Given the description of an element on the screen output the (x, y) to click on. 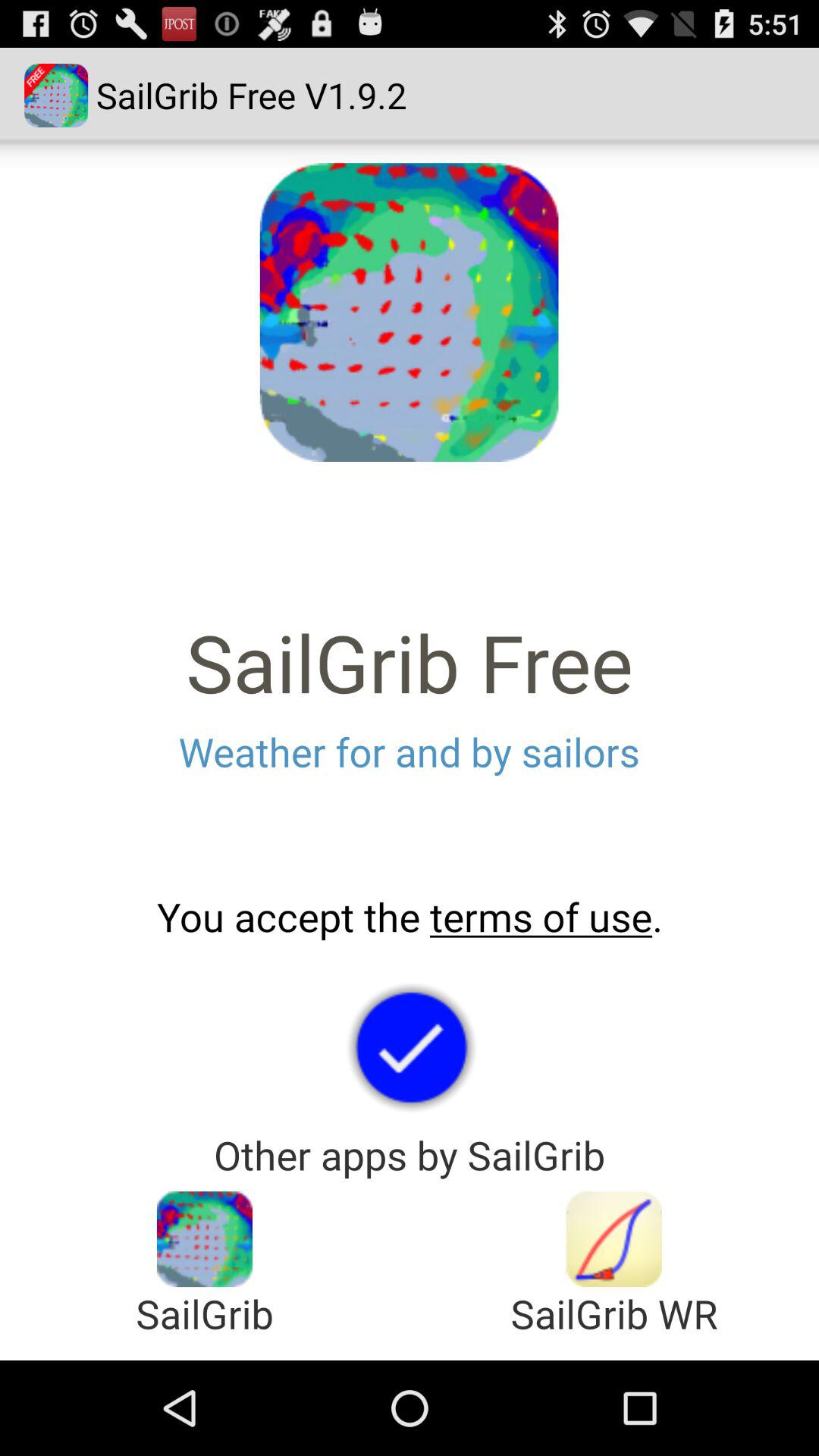
to go to sailgrib app (204, 1239)
